Given the description of an element on the screen output the (x, y) to click on. 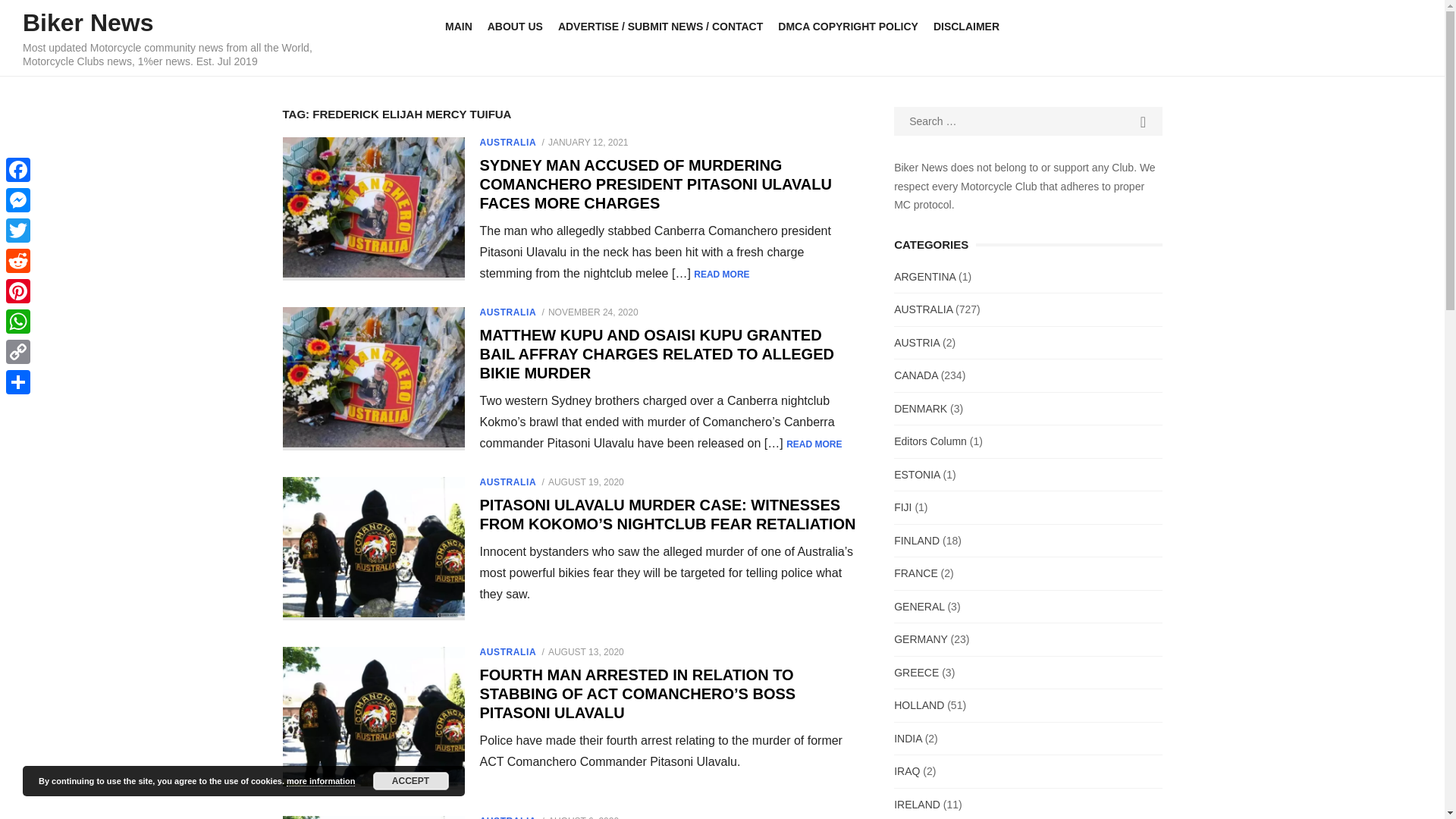
ABOUT US (515, 26)
AUGUST 6, 2020 (583, 817)
AUSTRALIA (507, 817)
AUSTRALIA (922, 309)
READ MORE (813, 444)
MAIN (459, 26)
DMCA COPYRIGHT POLICY (848, 26)
AUSTRALIA (507, 142)
AUGUST 13, 2020 (586, 652)
AUSTRALIA (507, 481)
Biker News (88, 22)
AUSTRALIA (507, 312)
